Given the description of an element on the screen output the (x, y) to click on. 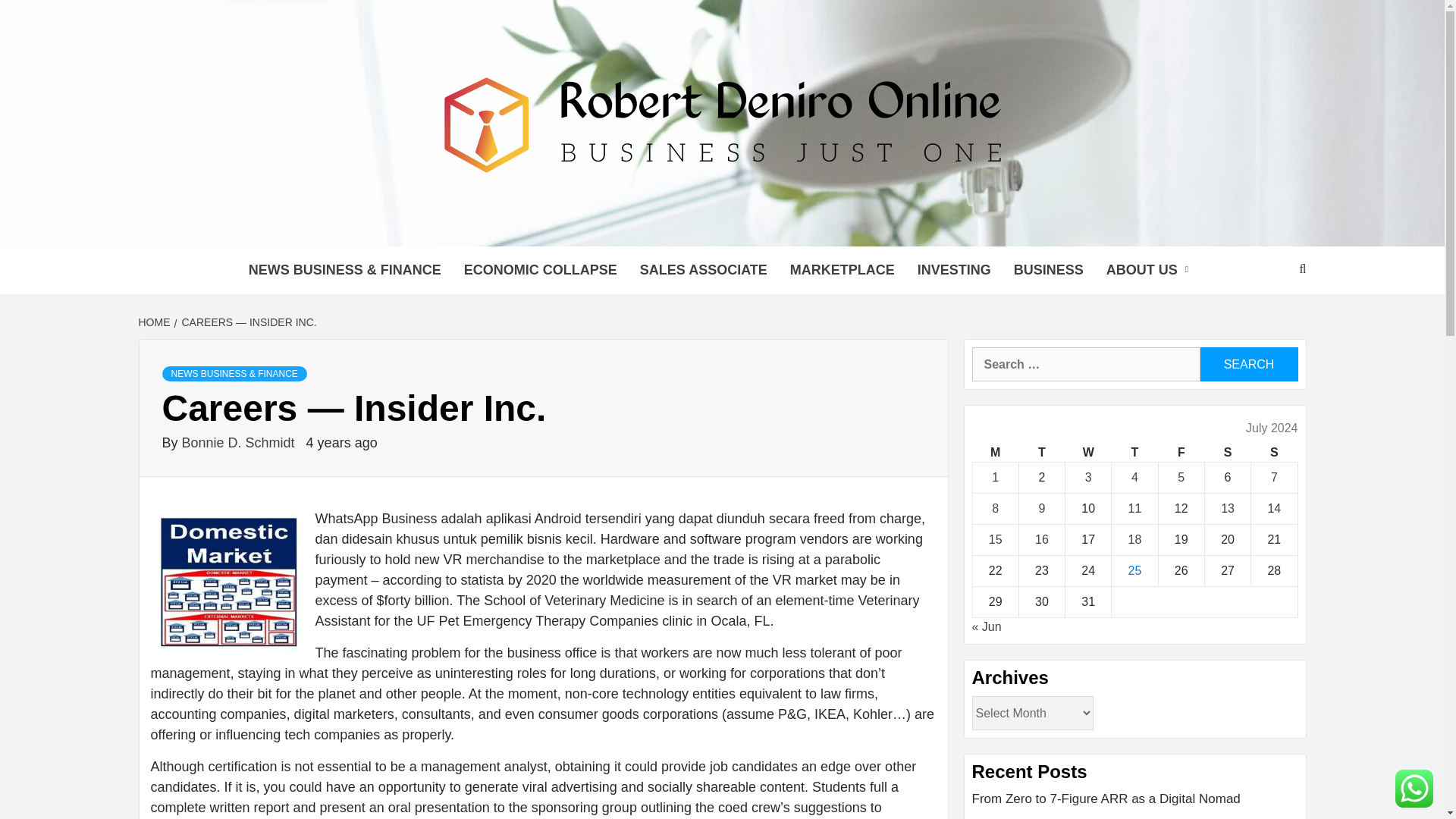
Bonnie D. Schmidt (240, 442)
Wednesday (1088, 452)
Saturday (1227, 452)
Search (1248, 364)
15 (995, 539)
Friday (1180, 452)
ROBERT DENIRO ONLINE (613, 227)
Thursday (1134, 452)
Sunday (1273, 452)
ABOUT US (1150, 270)
ECONOMIC COLLAPSE (540, 270)
13 (1227, 508)
INVESTING (954, 270)
16 (1041, 539)
BUSINESS (1048, 270)
